Given the description of an element on the screen output the (x, y) to click on. 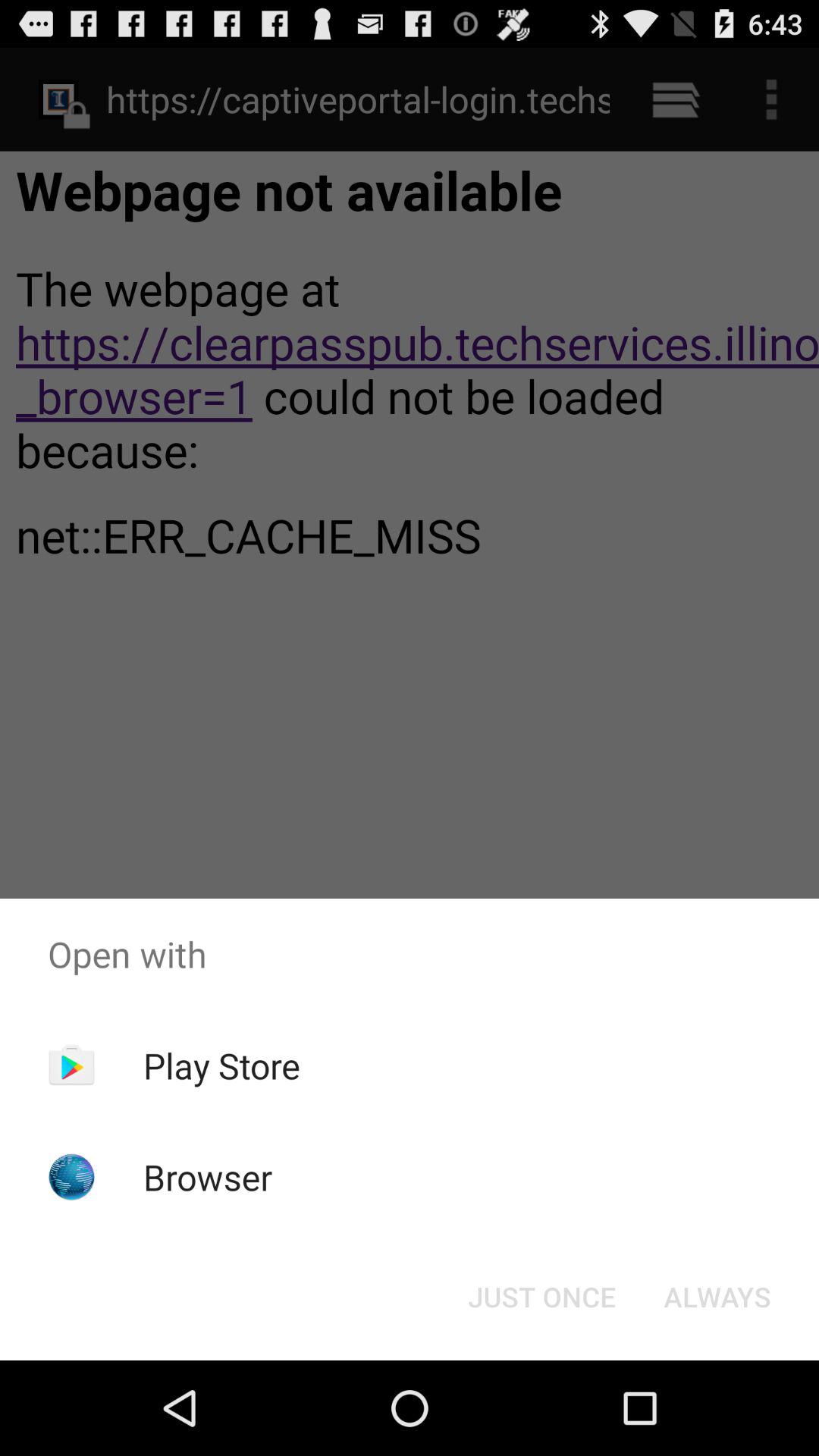
scroll to the browser (207, 1176)
